Given the description of an element on the screen output the (x, y) to click on. 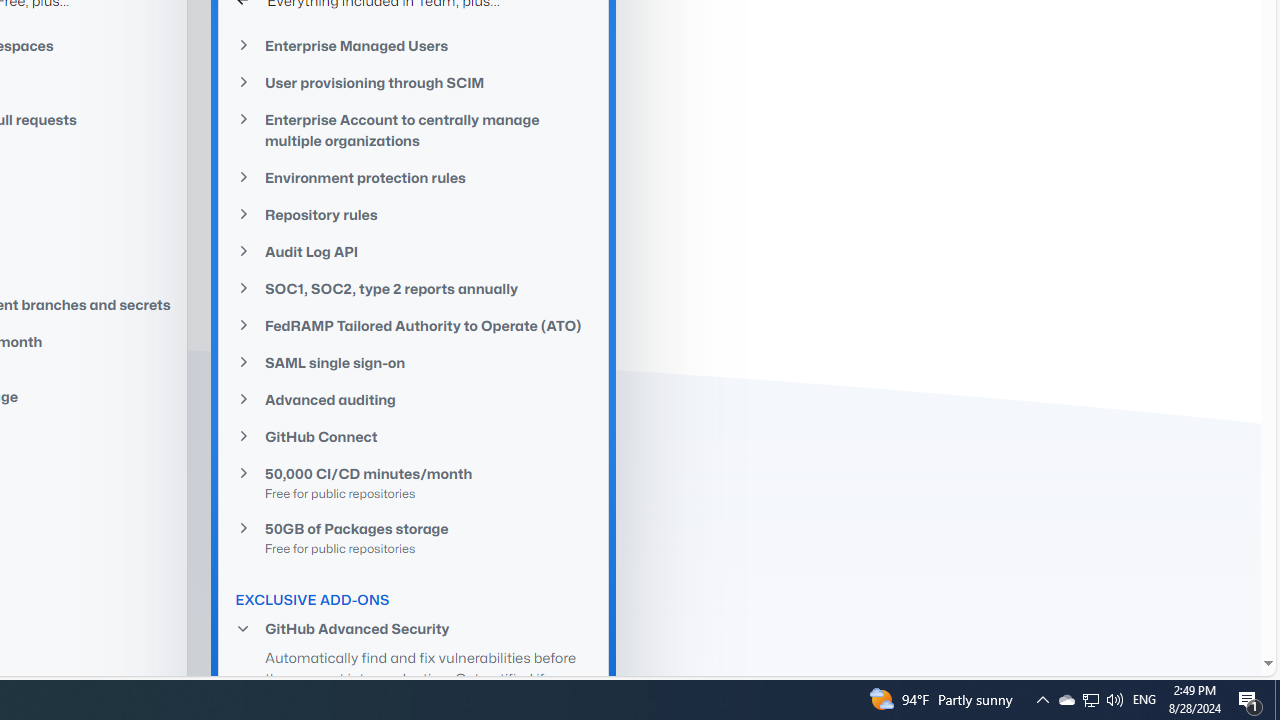
Audit Log API (413, 251)
Advanced auditing (413, 399)
50,000 CI/CD minutes/month Free for public repositories (413, 483)
50,000 CI/CD minutes/monthFree for public repositories (413, 482)
SOC1, SOC2, type 2 reports annually (413, 289)
Environment protection rules (413, 178)
Enterprise Managed Users (413, 45)
SAML single sign-on (413, 362)
FedRAMP Tailored Authority to Operate (ATO) (413, 325)
SAML single sign-on (413, 363)
Repository rules (413, 214)
